Given the description of an element on the screen output the (x, y) to click on. 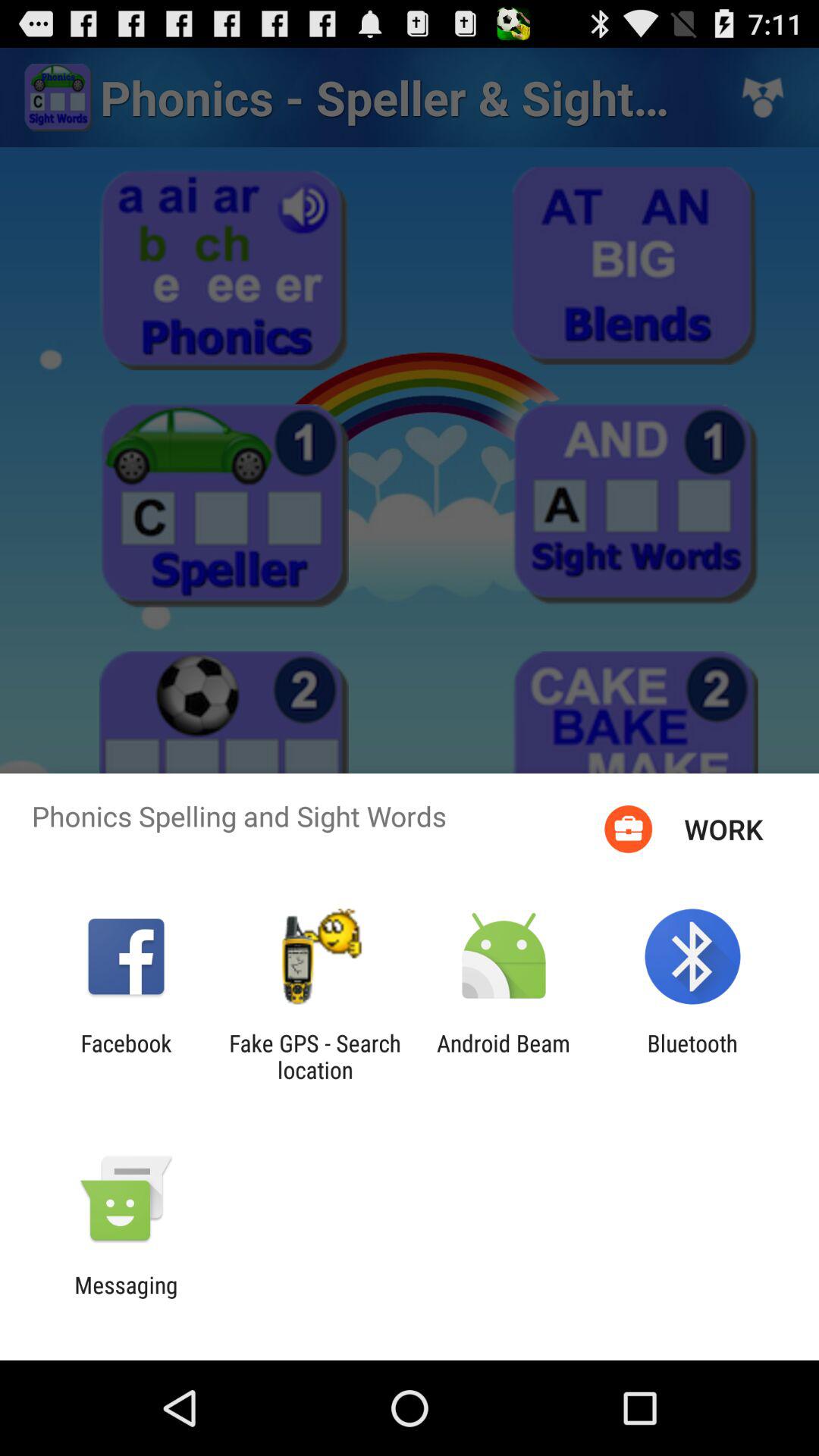
press messaging icon (126, 1298)
